Given the description of an element on the screen output the (x, y) to click on. 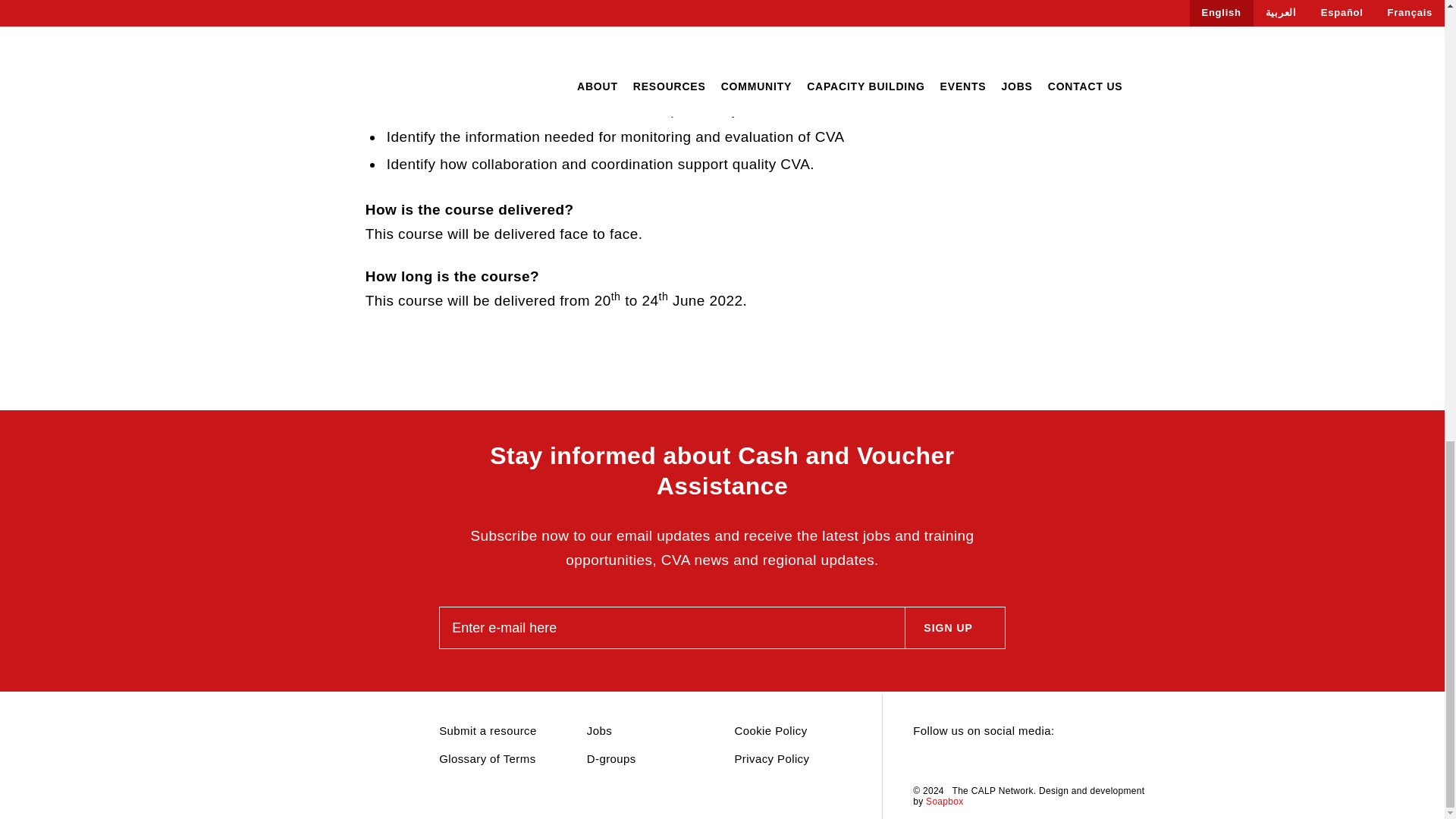
Twitter (920, 761)
LinkedIn (947, 761)
YouTube (1001, 761)
Facebook (973, 761)
